Given the description of an element on the screen output the (x, y) to click on. 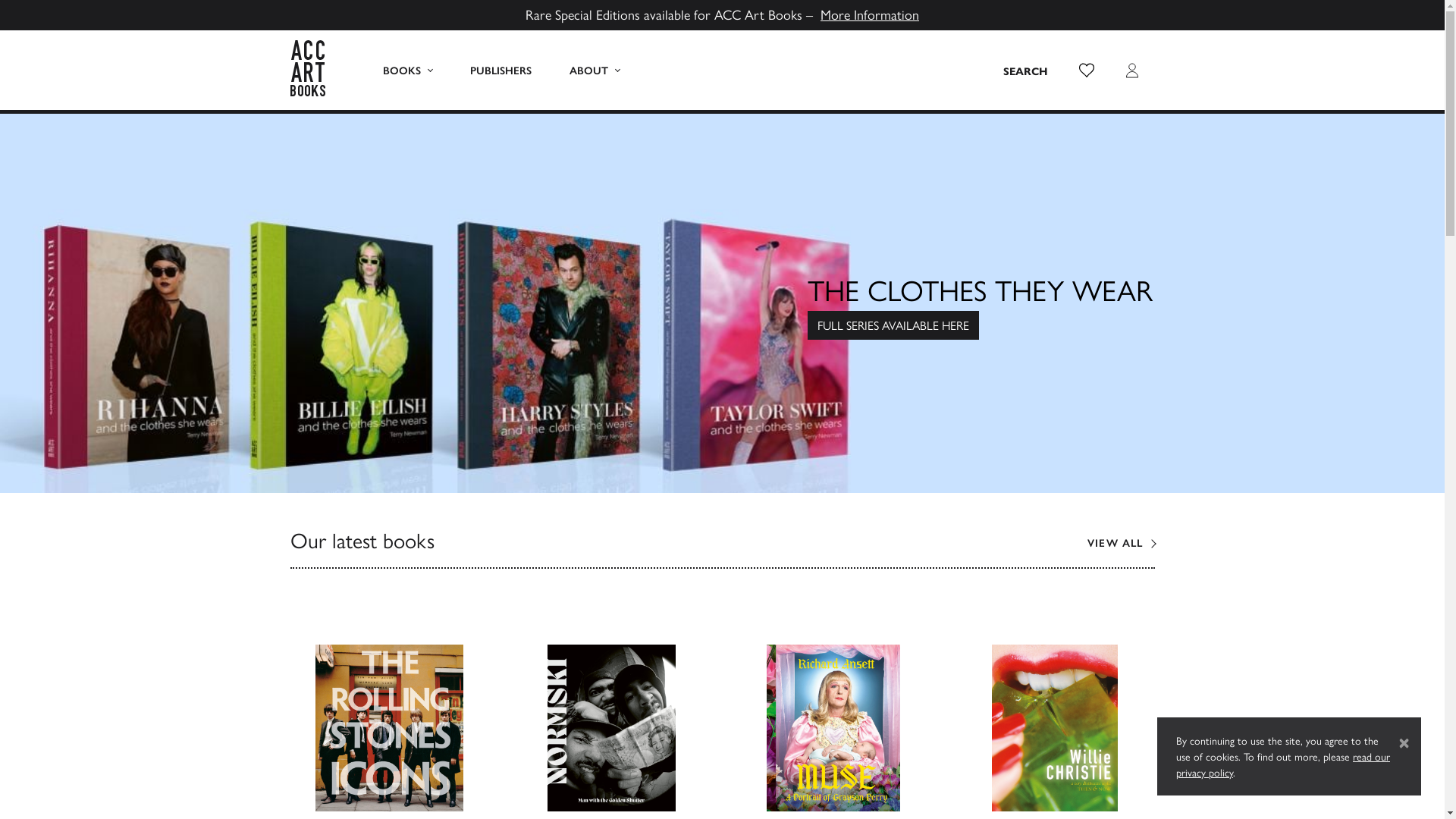
ACC Art Books UK Element type: text (316, 69)
Wish List Element type: text (1085, 69)
SEARCH Element type: text (1025, 69)
Login Element type: text (1131, 69)
read our privacy policy Element type: text (1283, 763)
PUBLISHERS Element type: text (500, 69)
FULL SERIES AVAILABLE HERE Element type: text (893, 324)
ABOUT Element type: text (594, 69)
More Information Element type: text (869, 13)
VIEW ALL Element type: text (1120, 542)
BOOKS Element type: text (407, 69)
